Given the description of an element on the screen output the (x, y) to click on. 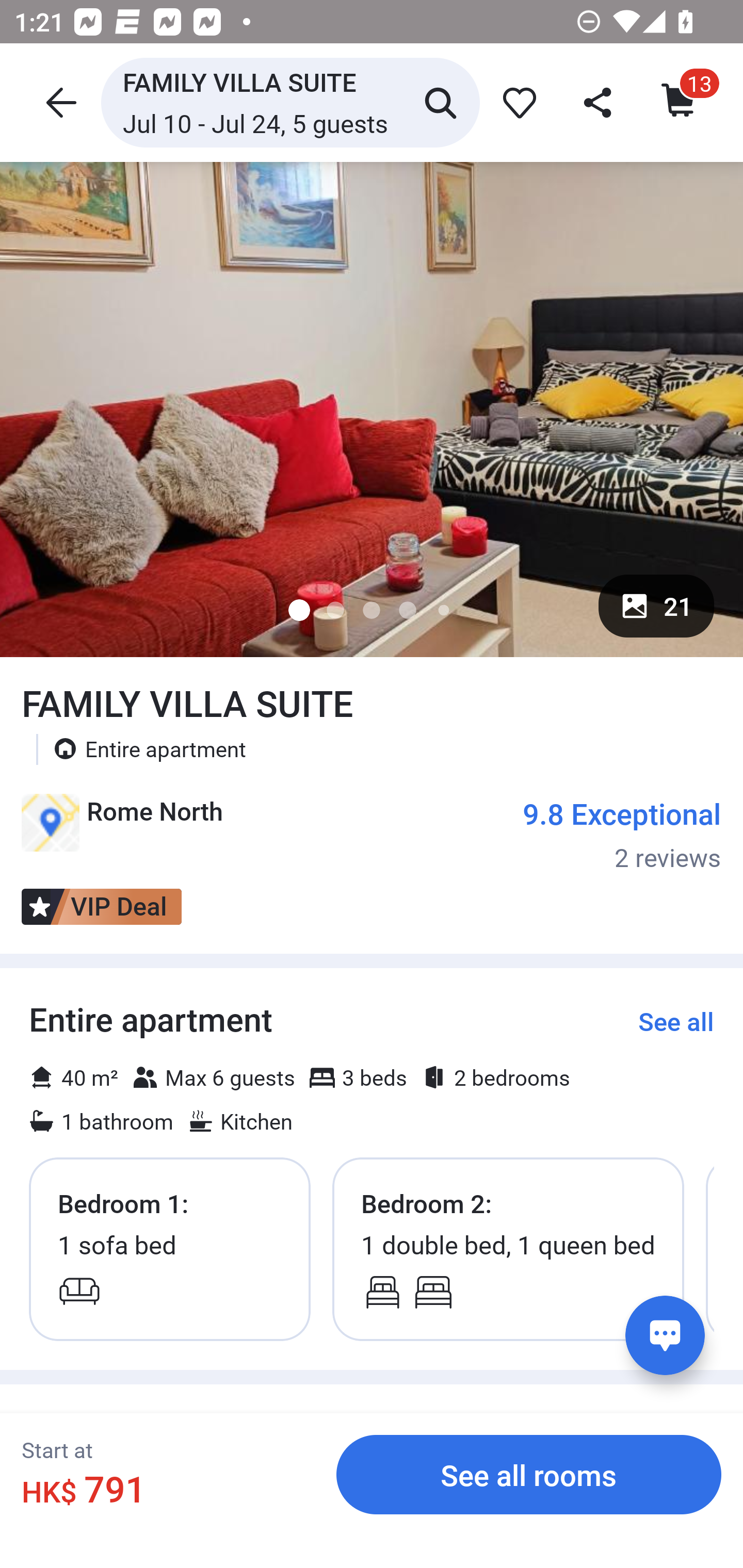
header icon (59, 102)
favorite_icon 0dbe6efb (515, 102)
share_header_icon (598, 102)
Cart icon cart_item_count 13 (679, 102)
image (371, 408)
21 (656, 605)
Rome North (122, 829)
9.8 Exceptional 2 reviews (621, 834)
See all (676, 1021)
See all rooms (528, 1474)
